Given the description of an element on the screen output the (x, y) to click on. 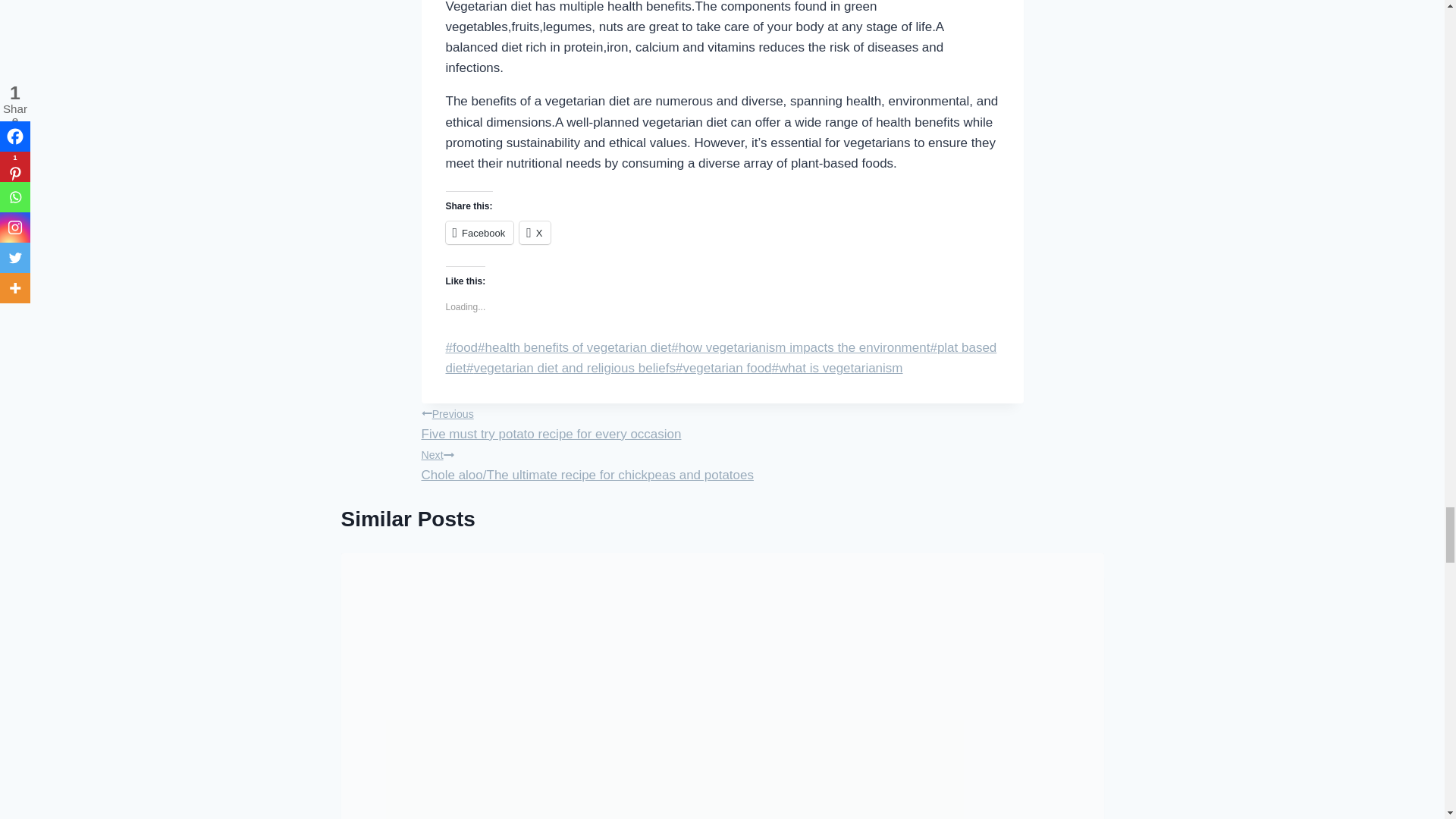
Click to share on Facebook (479, 232)
Facebook (479, 232)
X (534, 232)
Click to share on X (534, 232)
